Given the description of an element on the screen output the (x, y) to click on. 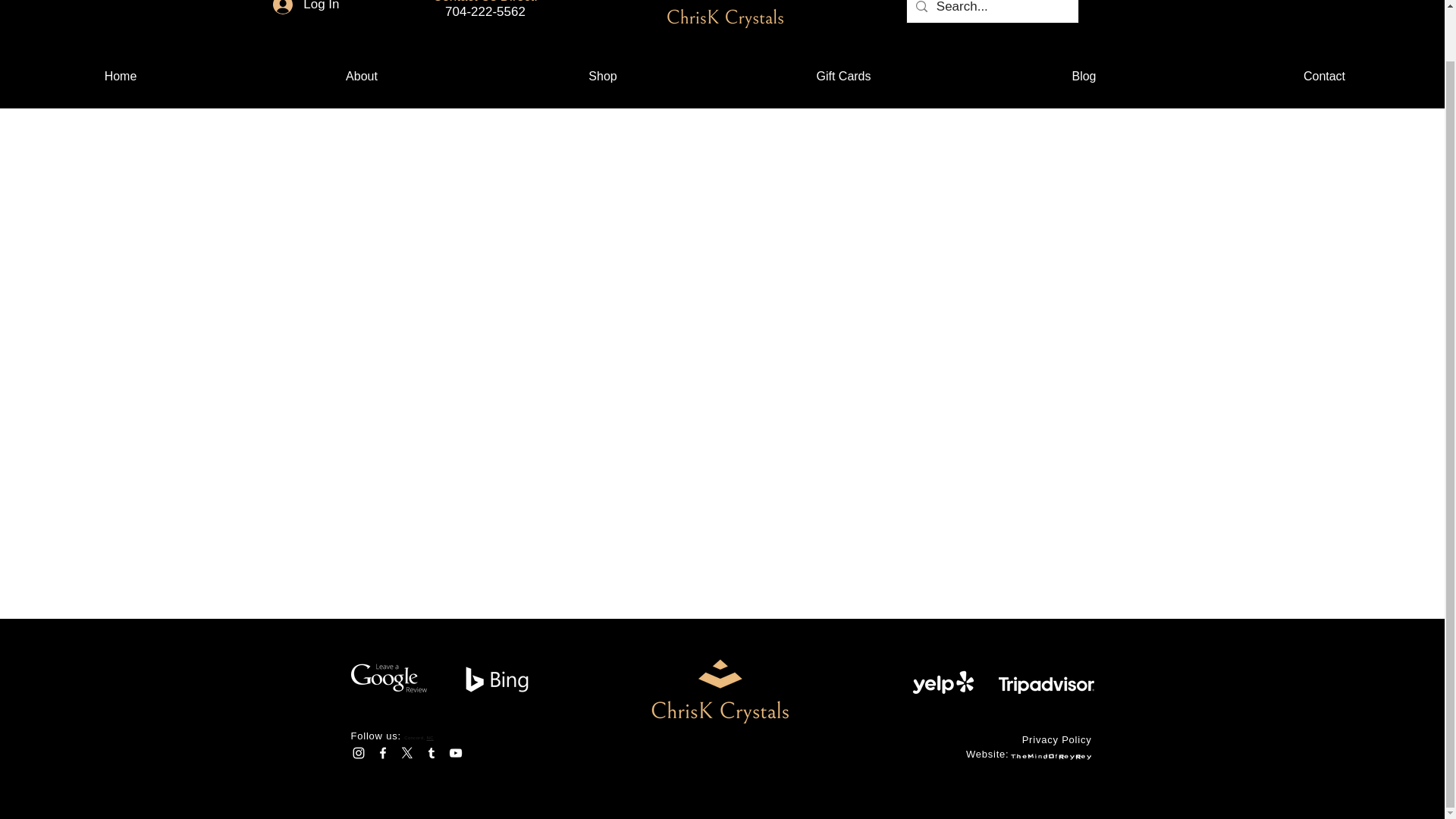
Home (120, 76)
Log In (305, 9)
Website: (987, 754)
Blog (1083, 76)
704-222-5562 (485, 11)
About (361, 76)
Gift Cards (843, 76)
Privacy Policy (1057, 739)
